Given the description of an element on the screen output the (x, y) to click on. 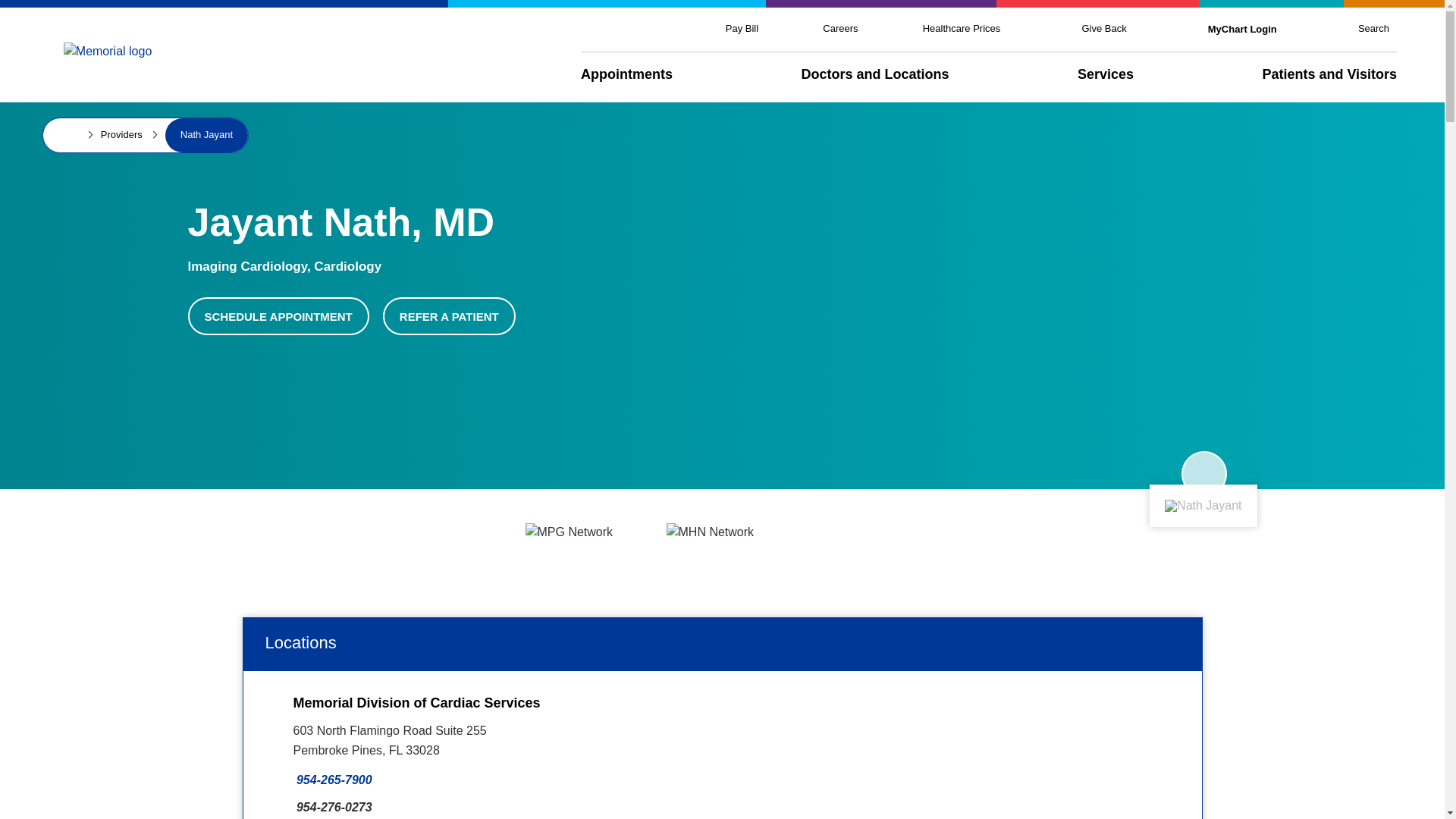
Appointments (626, 74)
MyChart Login (1242, 29)
Healthcare Prices (962, 28)
Search (1373, 28)
Careers (839, 28)
Give Back (1103, 28)
Pay Bill (741, 28)
Doctors and Locations (874, 74)
Patients and Visitors (1329, 74)
